Given the description of an element on the screen output the (x, y) to click on. 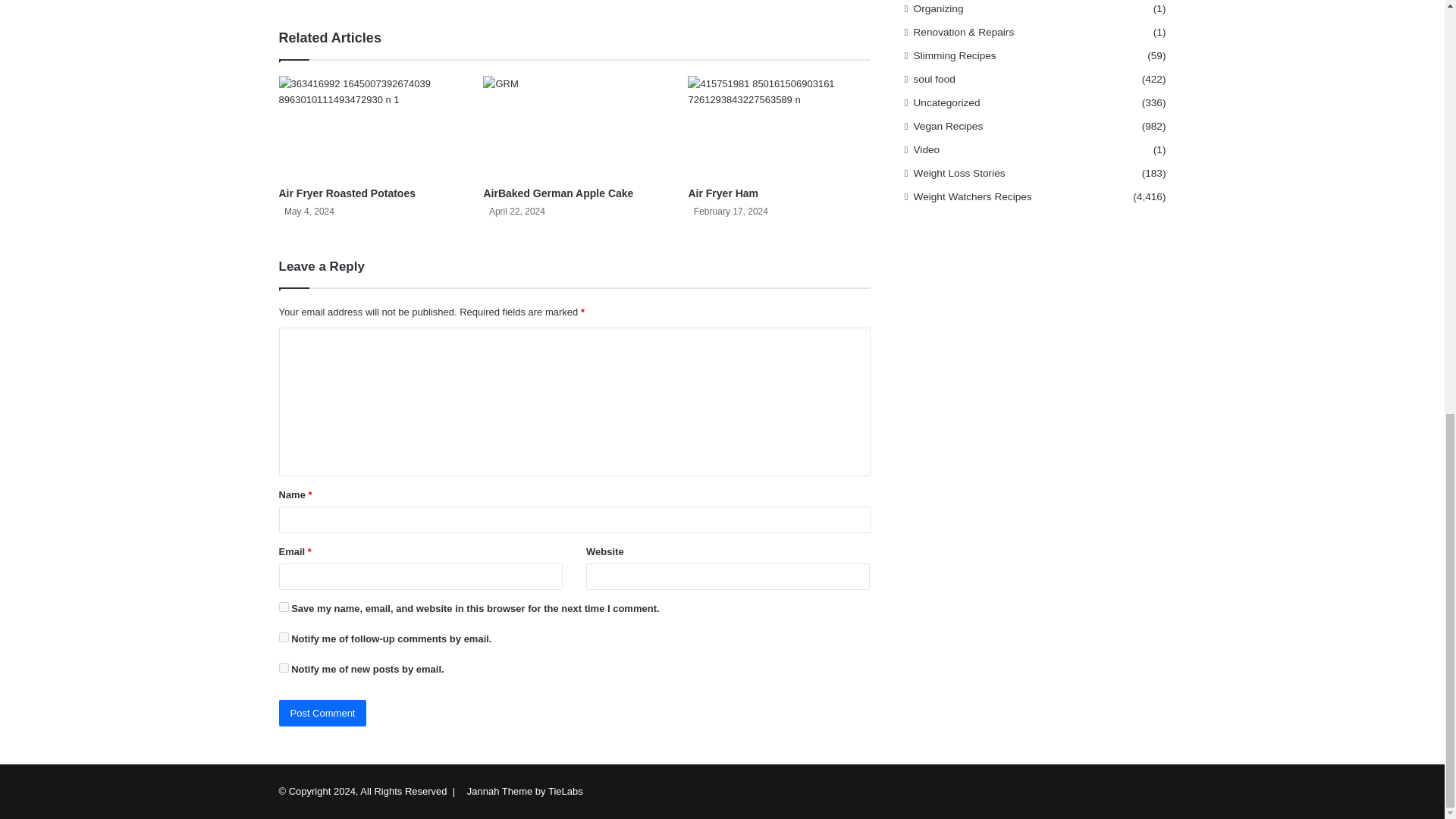
Post Comment (322, 713)
AirBaked German Apple Cake (558, 193)
yes (283, 606)
Air Fryer Ham (722, 193)
subscribe (283, 637)
Post Comment (322, 713)
Air Fryer Roasted Potatoes (347, 193)
subscribe (283, 667)
